Given the description of an element on the screen output the (x, y) to click on. 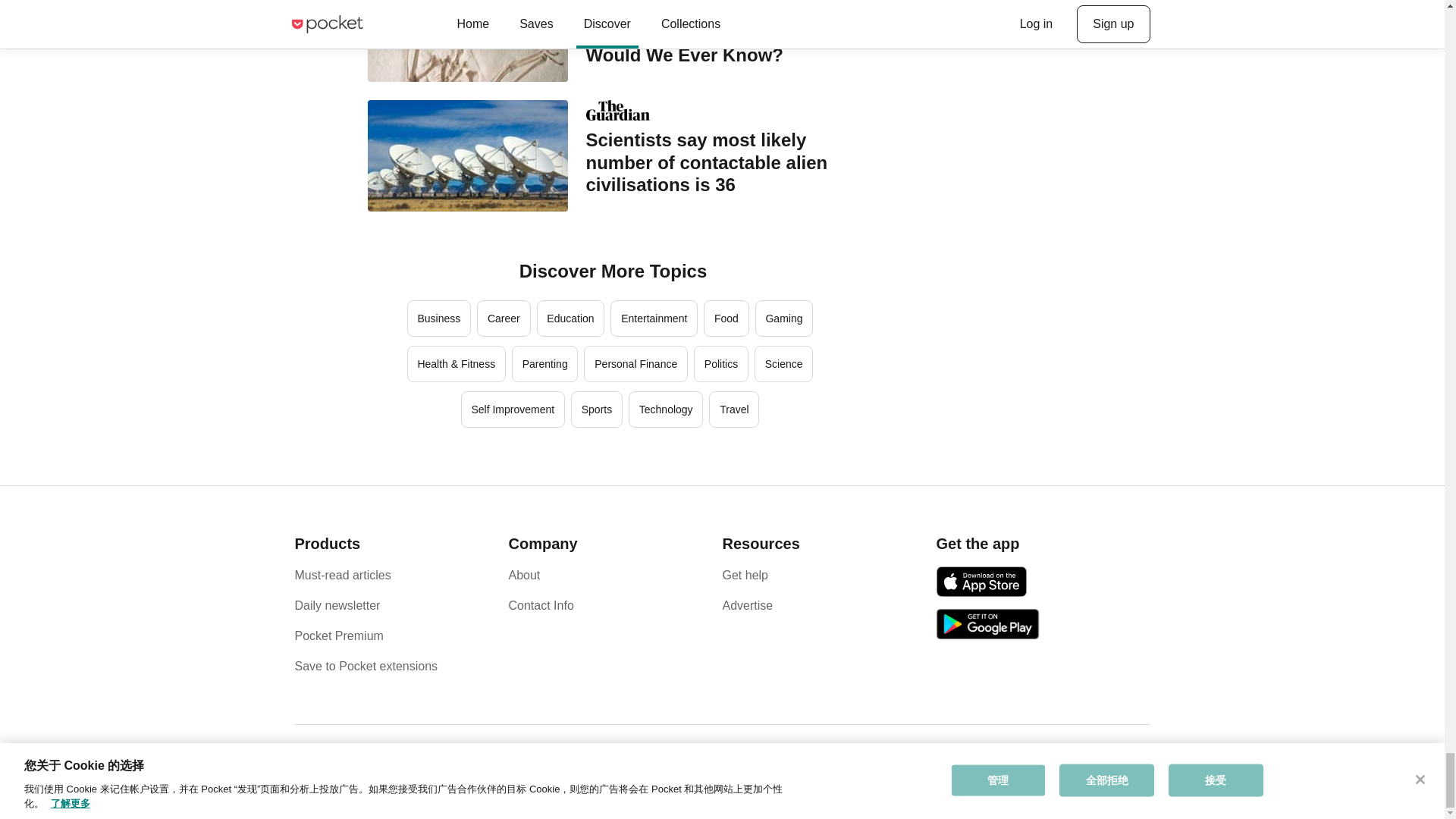
Facebook (1091, 766)
Twitter (1110, 766)
Instagram (1129, 766)
